Given the description of an element on the screen output the (x, y) to click on. 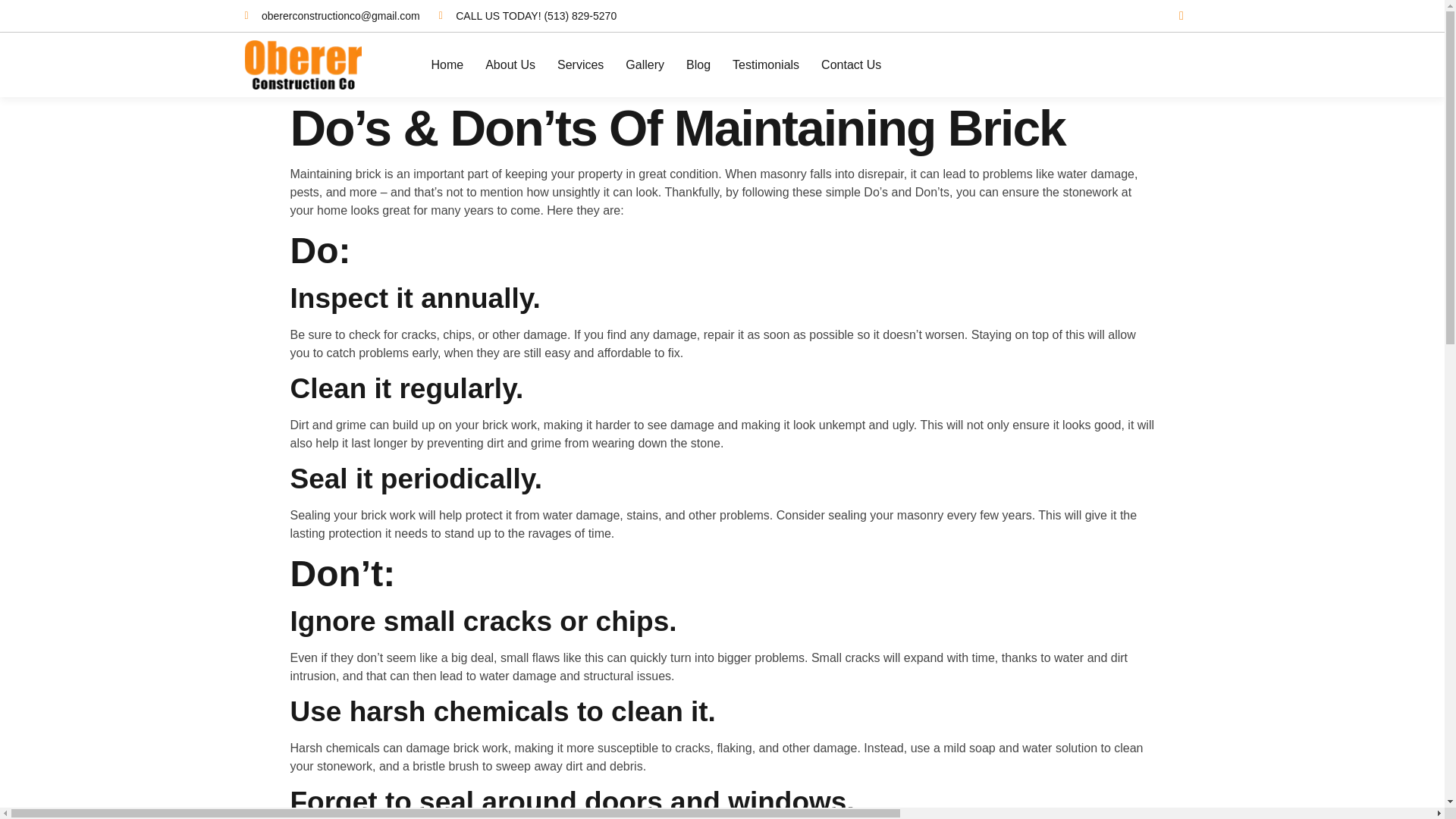
Services (580, 64)
Testimonials (765, 64)
About Us (509, 64)
Contact Us (850, 64)
